Given the description of an element on the screen output the (x, y) to click on. 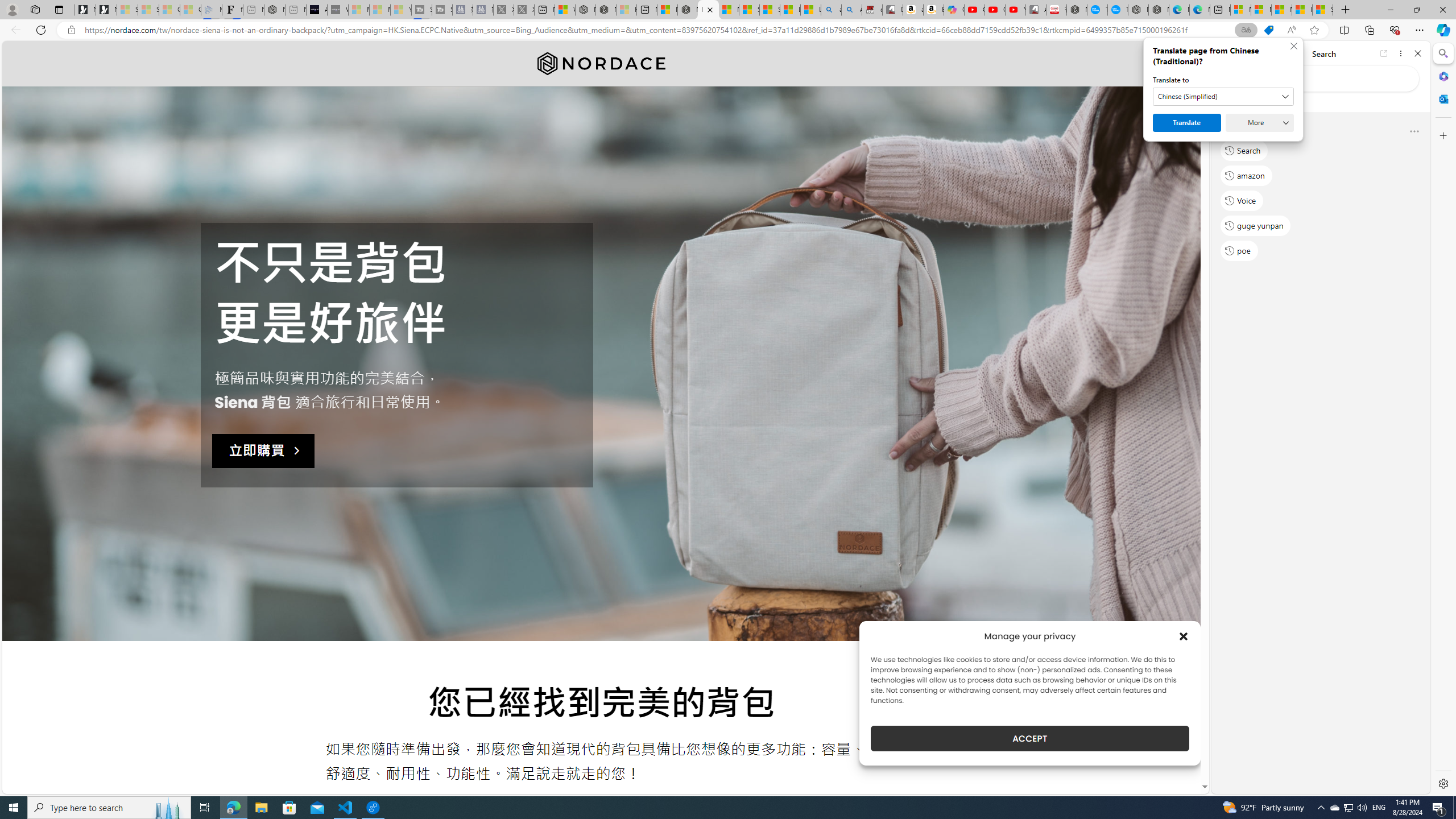
Copilot (954, 9)
Customize (1442, 135)
Class: cmplz-close (1183, 636)
amazon - Search (830, 9)
Microsoft account | Privacy (1261, 9)
Microsoft 365 (1442, 76)
